Given the description of an element on the screen output the (x, y) to click on. 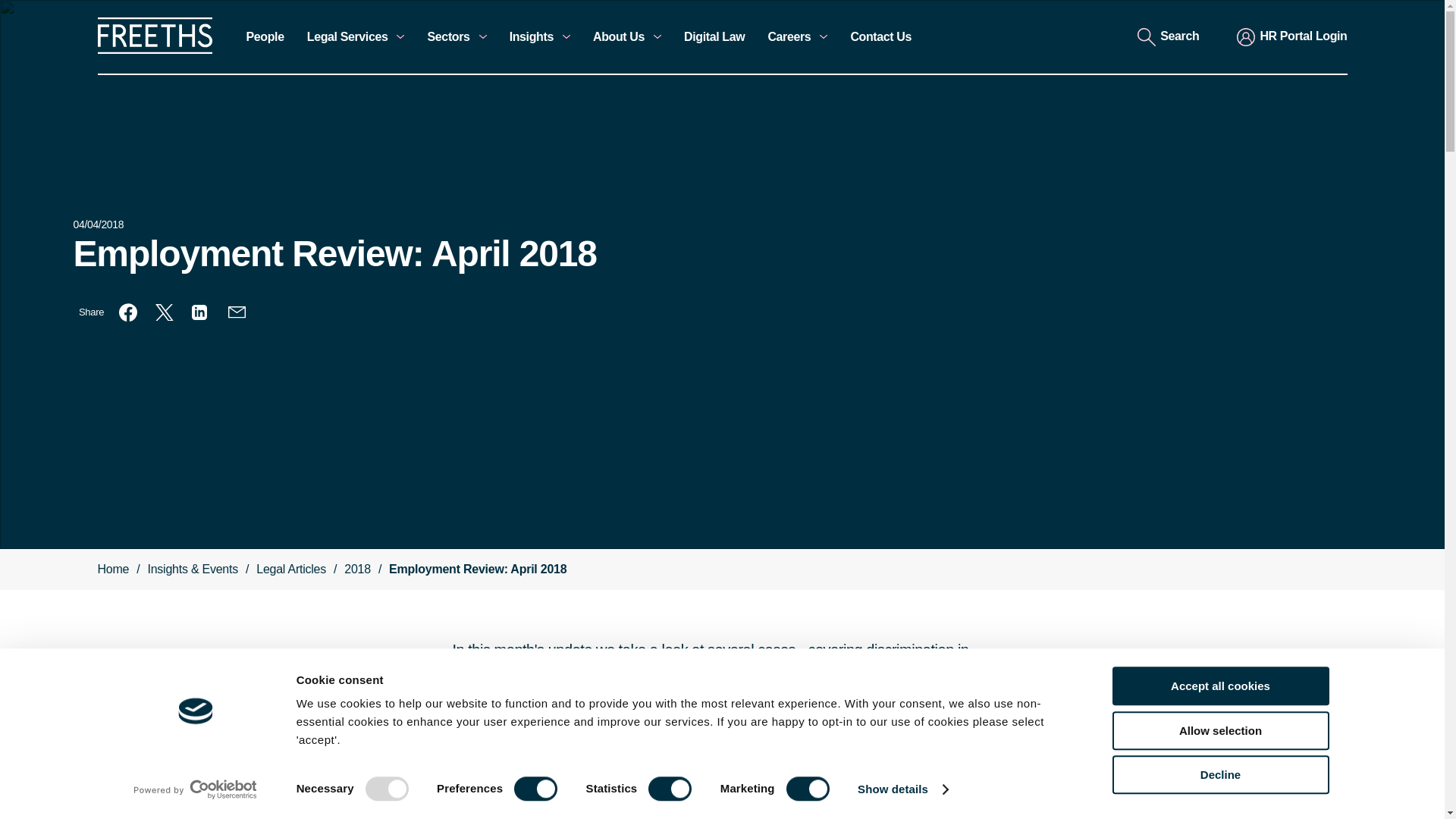
Accept all cookies (1219, 685)
Share (90, 312)
Show details (902, 789)
Share via X (163, 312)
Allow selection (1219, 730)
Go to homepage (154, 49)
Share via LinkedIn (200, 312)
Share via Facebook (127, 312)
Share via email (236, 312)
Decline (1219, 774)
